Given the description of an element on the screen output the (x, y) to click on. 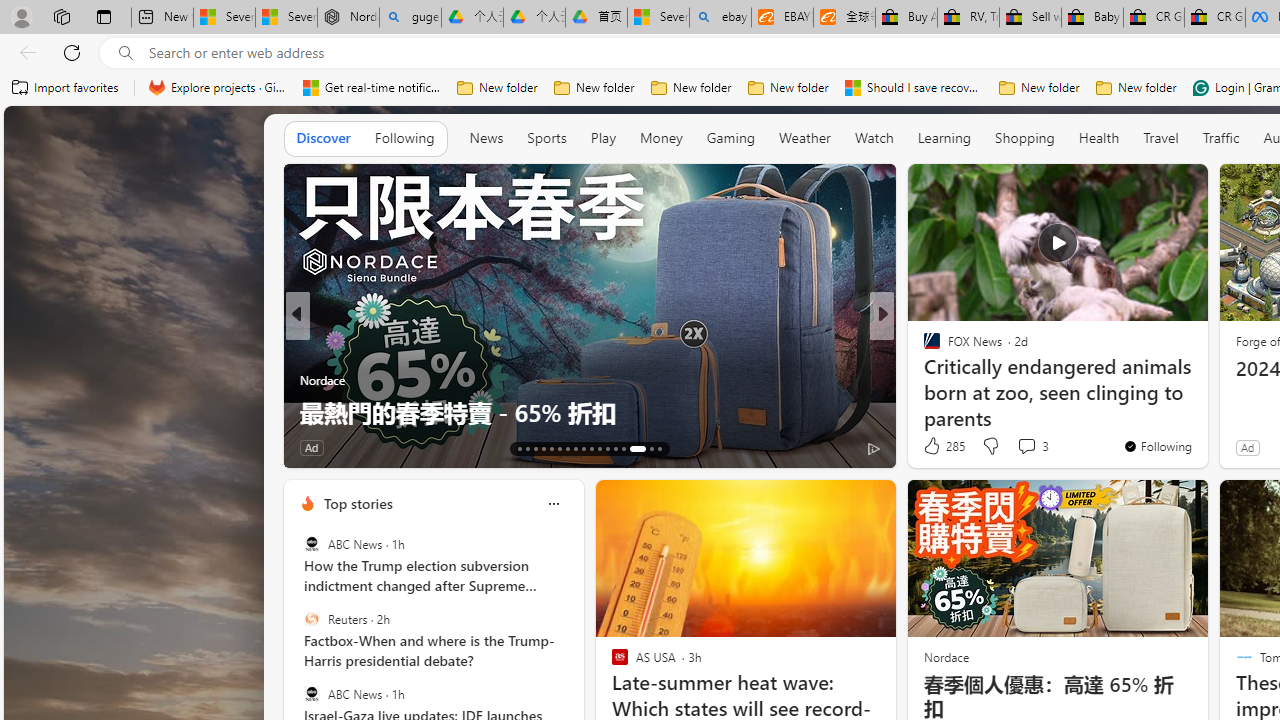
Top stories (357, 503)
Play (603, 138)
Travel (1160, 137)
AutomationID: tab-21 (582, 448)
See more (1183, 187)
Watch (874, 138)
AutomationID: tab-22 (591, 448)
Refresh (72, 52)
AutomationID: tab-14 (527, 448)
View comments 6 Comment (410, 447)
Sports (546, 137)
Weather (804, 137)
AutomationID: tab-23 (599, 448)
